Given the description of an element on the screen output the (x, y) to click on. 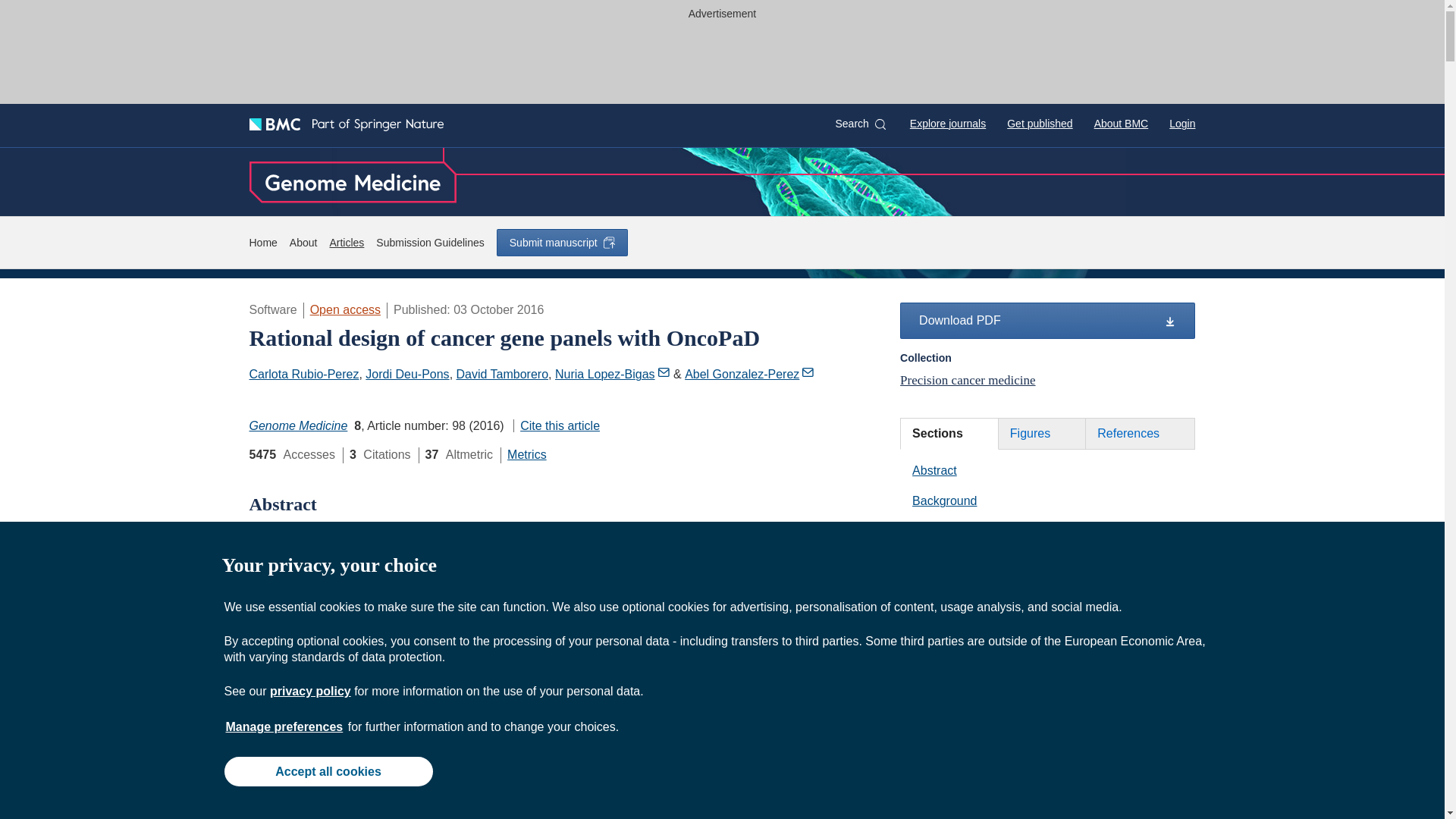
Carlota Rubio-Perez (303, 373)
Explore journals (947, 123)
About (303, 242)
David Tamborero (502, 373)
Accept all cookies (328, 771)
Metrics (526, 454)
About BMC (1121, 123)
privacy policy (309, 690)
Articles (346, 242)
Manage preferences (284, 726)
Search (859, 123)
Get published (1039, 123)
Abel Gonzalez-Perez (748, 373)
Submit manuscript (561, 242)
Login (1182, 123)
